Given the description of an element on the screen output the (x, y) to click on. 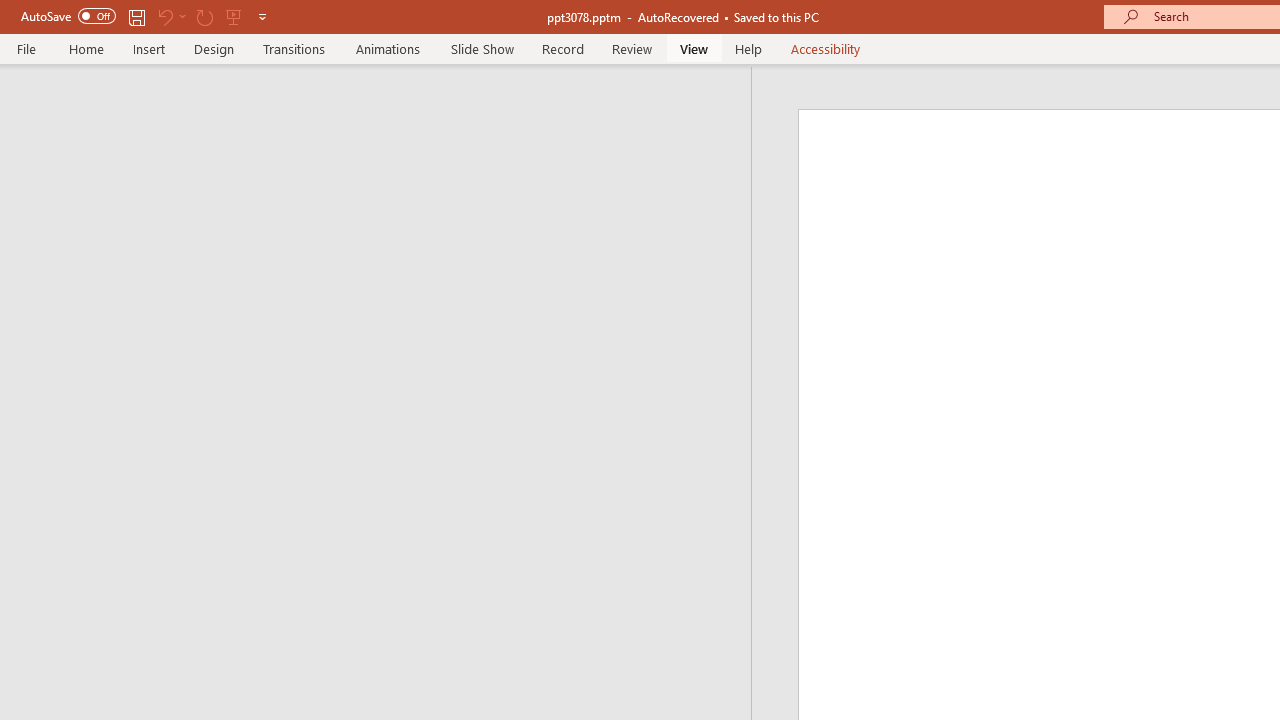
Outline (384, 106)
